Given the description of an element on the screen output the (x, y) to click on. 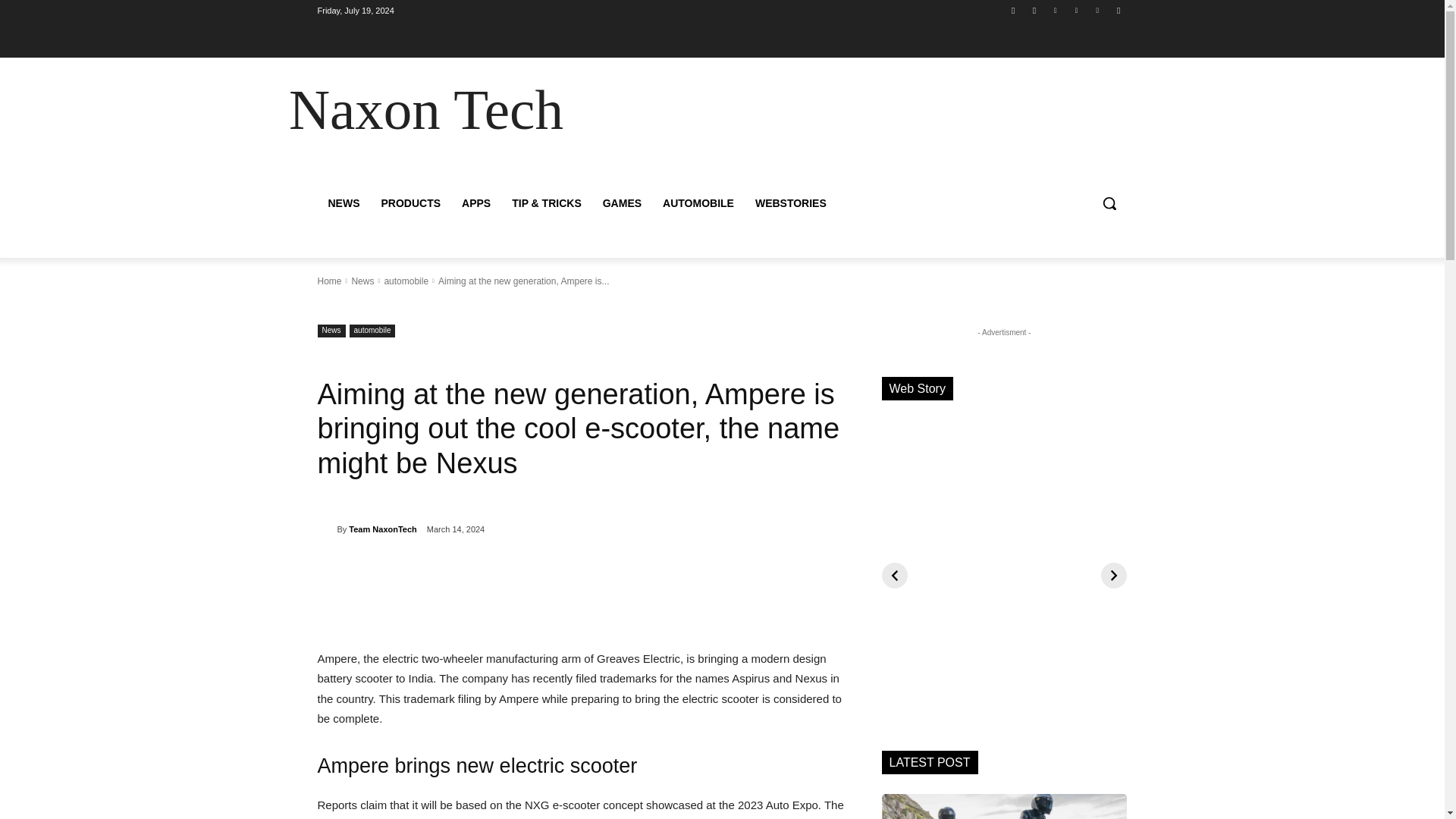
Youtube (1117, 9)
Facebook (1013, 9)
Pinterest (1075, 9)
News (331, 330)
NEWS (343, 203)
Naxon Tech (425, 109)
Home (328, 281)
Instagram (1034, 9)
PRODUCTS (410, 203)
GAMES (622, 203)
View all posts in News (362, 281)
AUTOMOBILE (698, 203)
Team NaxonTech (382, 528)
APPS (475, 203)
Linkedin (1055, 9)
